Given the description of an element on the screen output the (x, y) to click on. 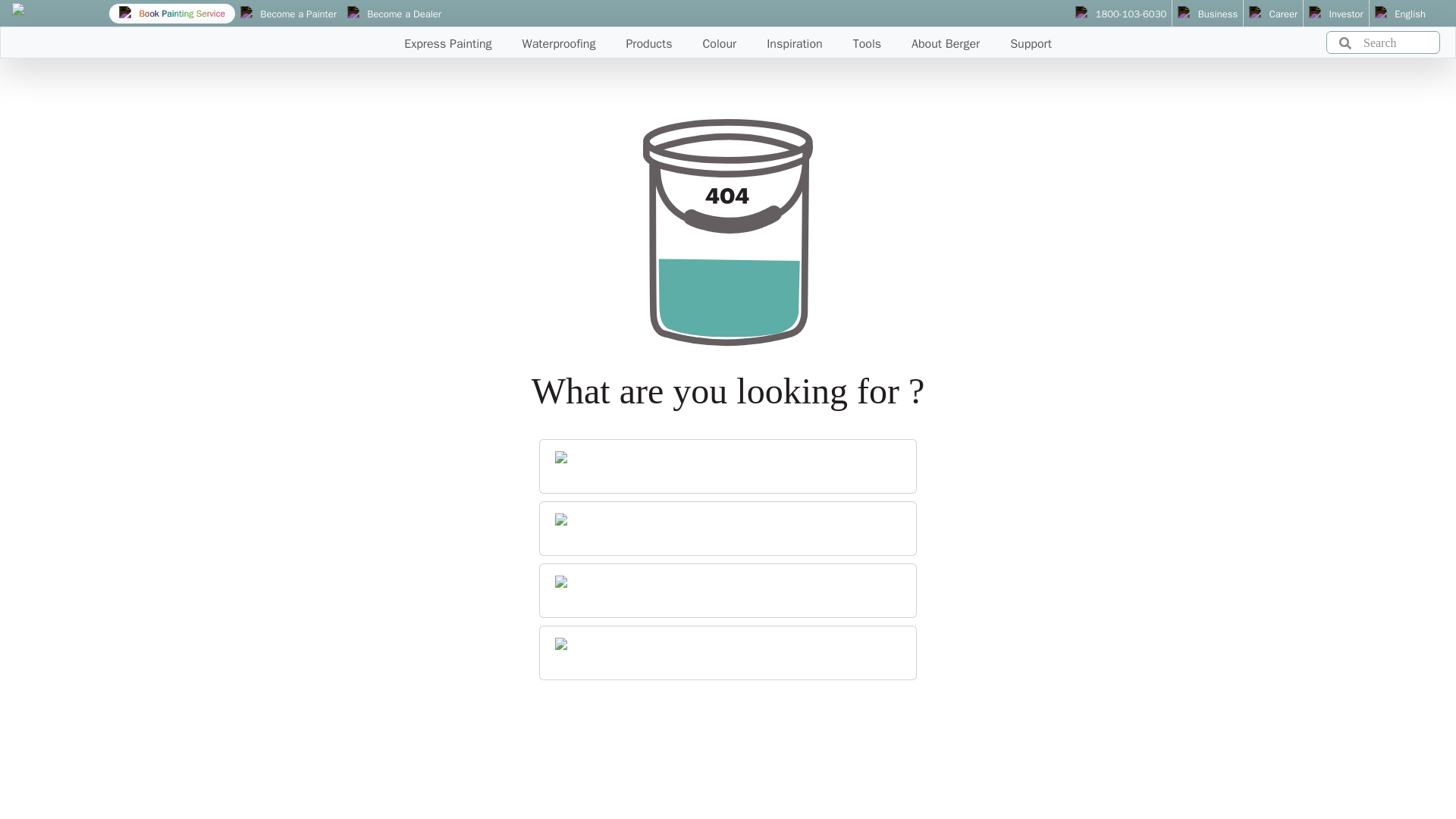
Business (1207, 14)
1800-103-6030 (1120, 14)
Waterproofing (727, 652)
Career (1273, 14)
Become a Painter (288, 14)
Become a Dealer (394, 14)
About Berger (727, 466)
English (1399, 14)
Berger Products (727, 528)
Colour Catalogue (727, 590)
